Given the description of an element on the screen output the (x, y) to click on. 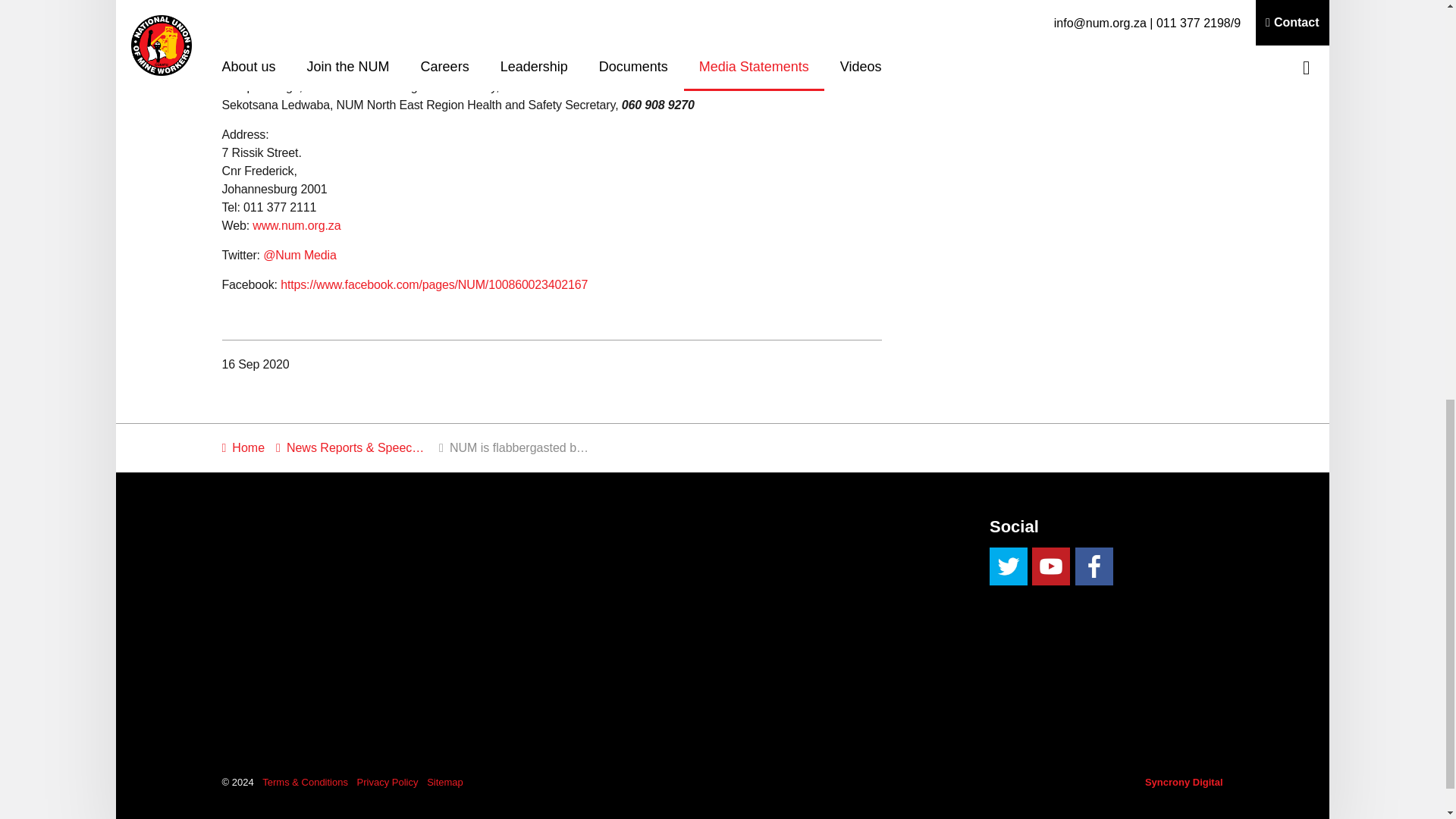
Sitemap (444, 781)
Home (242, 447)
Privacy Policy (387, 781)
Syncrony Digital (1183, 781)
www.num.org.za (295, 225)
